Given the description of an element on the screen output the (x, y) to click on. 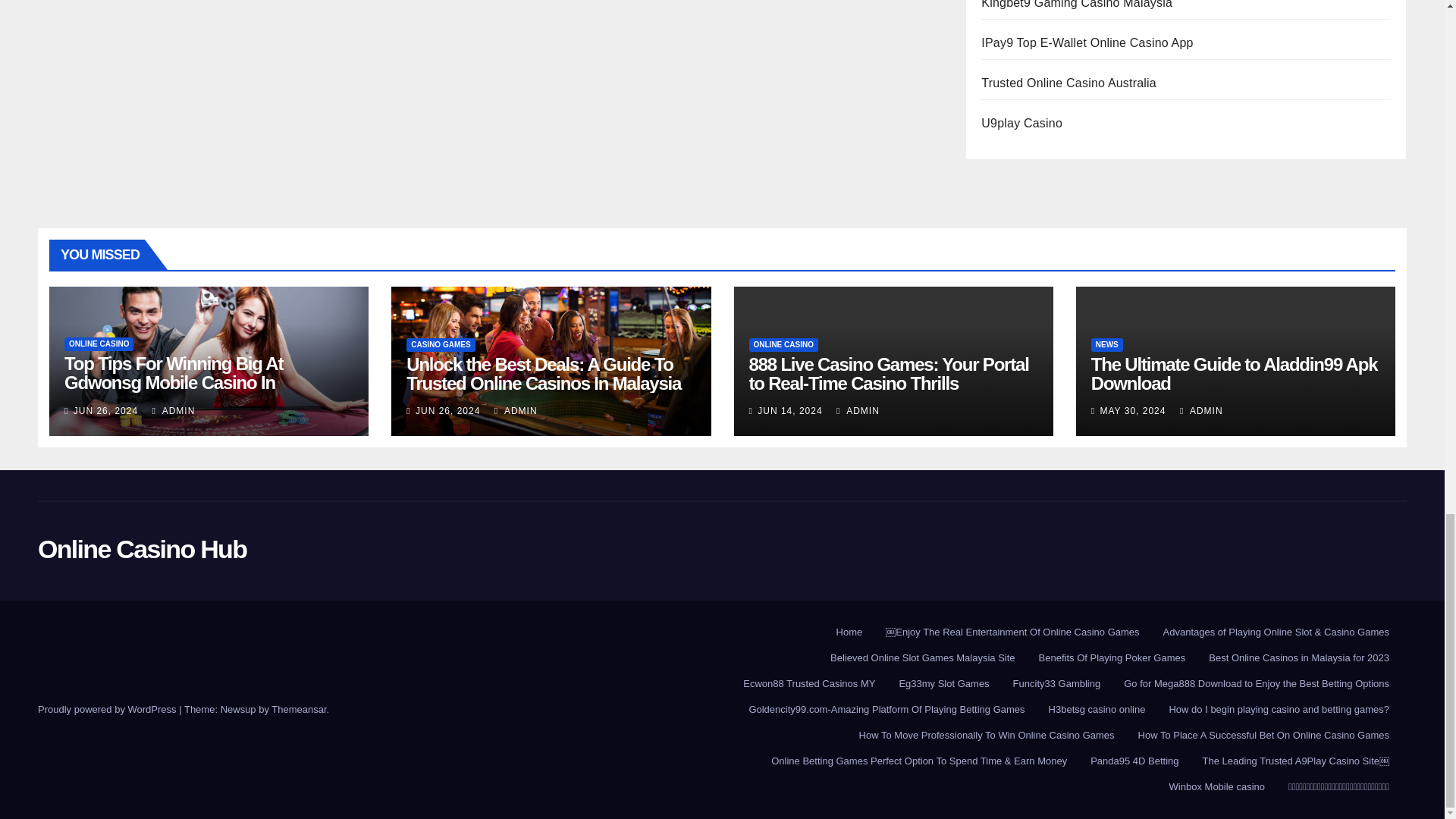
Permalink to: The Ultimate Guide to Aladdin99 Apk Download (1233, 373)
Home (849, 632)
